Given the description of an element on the screen output the (x, y) to click on. 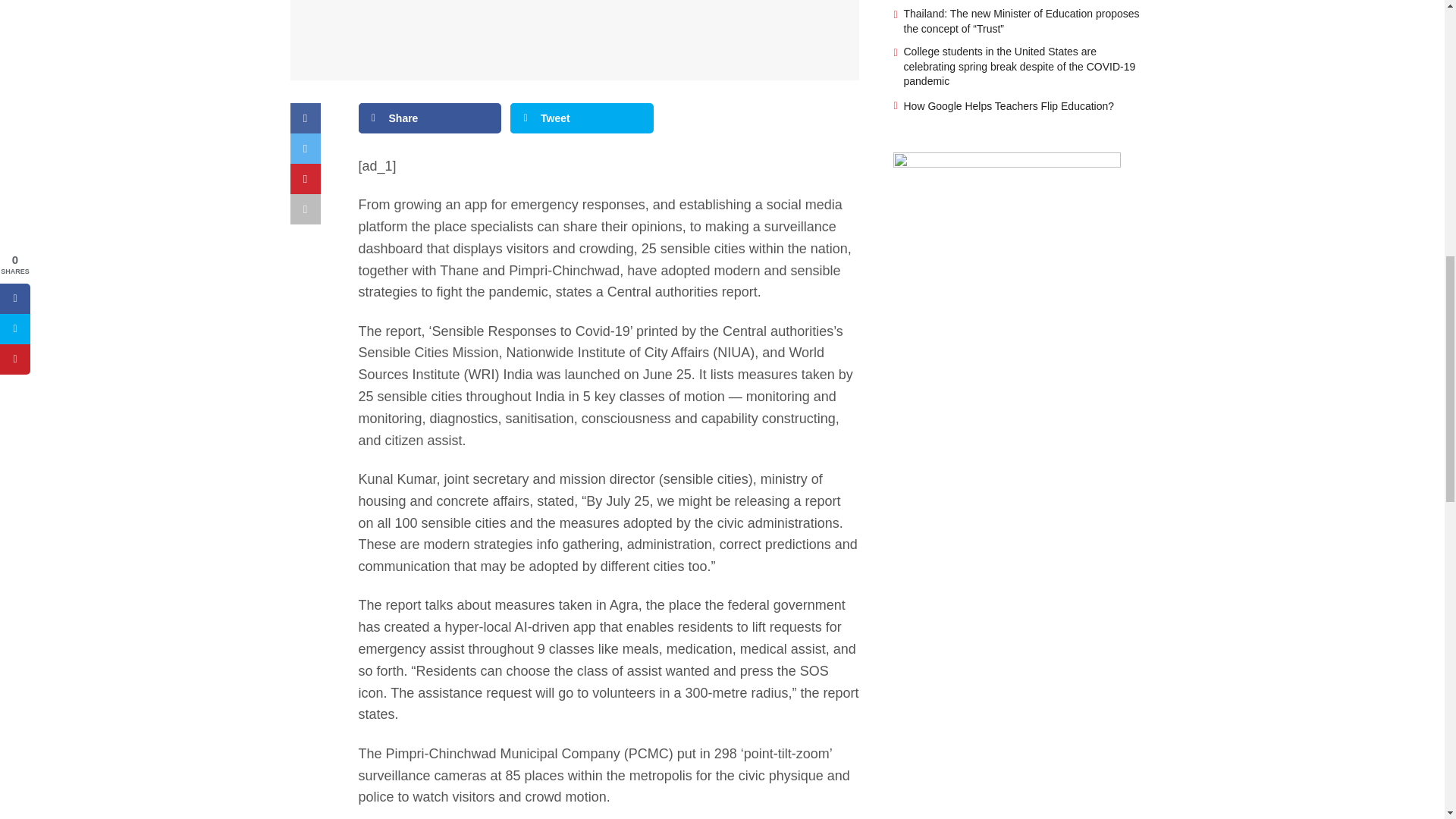
How Google Helps Teachers Flip Education? (1009, 105)
Tweet (582, 118)
Share (429, 118)
